Given the description of an element on the screen output the (x, y) to click on. 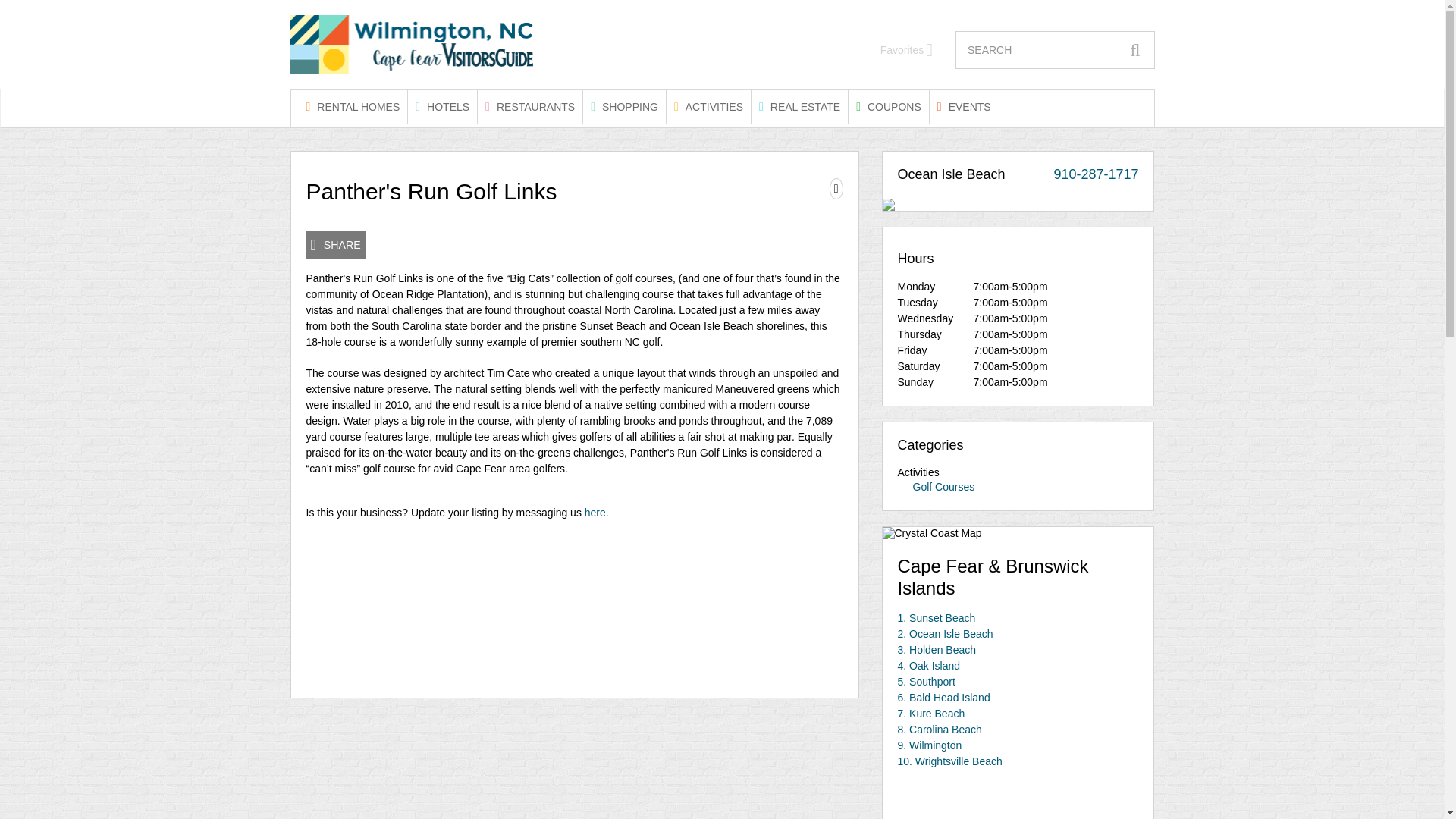
HOTELS (442, 106)
4. Oak Island (929, 665)
10. Wrightsville Beach (950, 761)
9. Wilmington (930, 745)
here (595, 512)
6. Bald Head Island (944, 697)
8. Carolina Beach (939, 729)
SHARE (335, 244)
2. Ocean Isle Beach (945, 633)
3. Holden Beach (937, 649)
ACTIVITIES (708, 106)
SHOPPING (624, 106)
RESTAURANTS (529, 106)
910-287-1717 (1095, 174)
Favorites (906, 49)
